Given the description of an element on the screen output the (x, y) to click on. 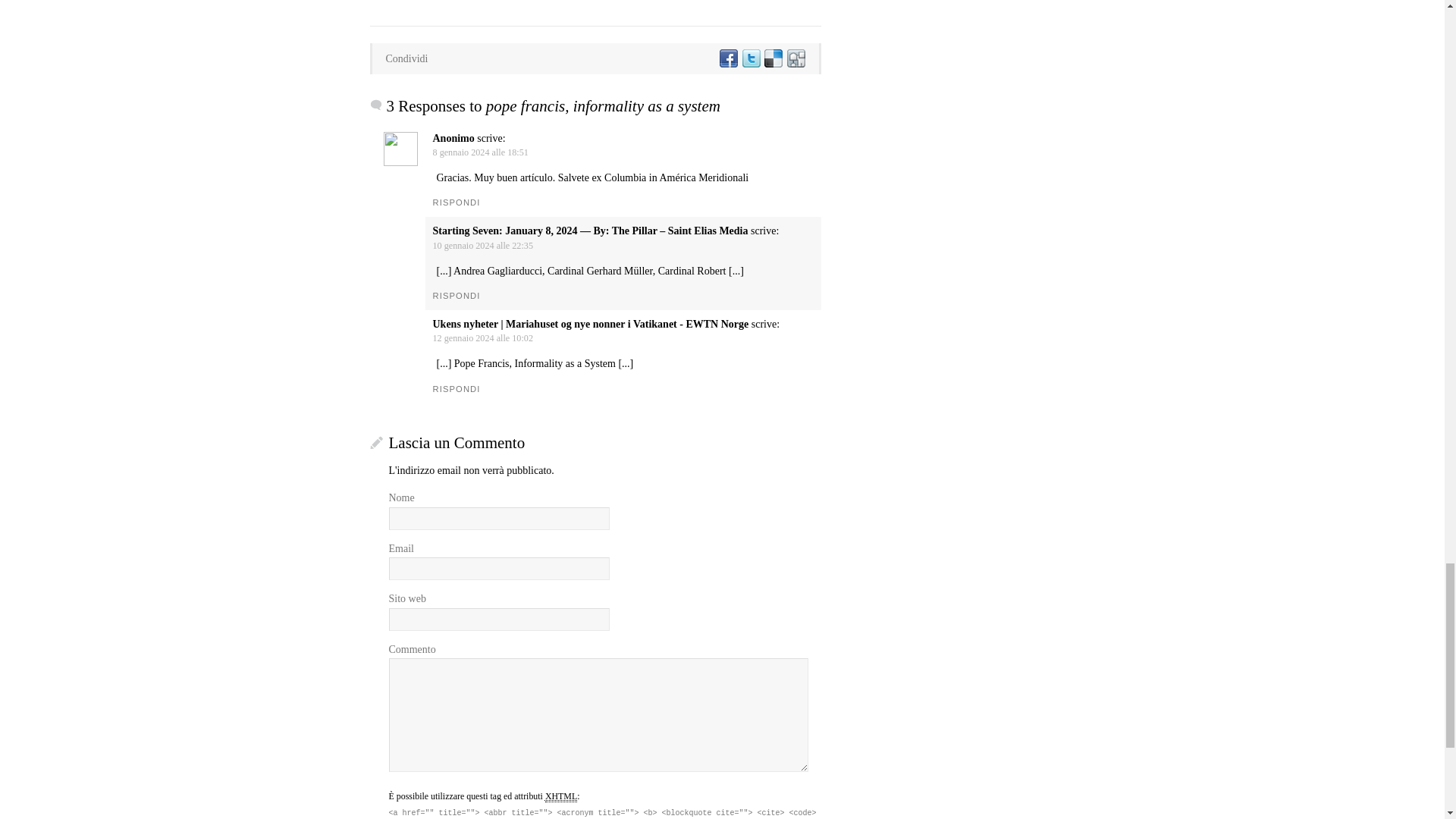
12 gennaio 2024 alle 10:02 (482, 337)
10 gennaio 2024 alle 22:35 (482, 245)
RISPONDI (456, 388)
Share on Delicious (772, 58)
eXtensible HyperText Markup Language (560, 796)
8 gennaio 2024 alle 18:51 (479, 152)
RISPONDI (456, 202)
Share on Digg (795, 58)
Share on Facebook (727, 58)
RISPONDI (456, 295)
